Given the description of an element on the screen output the (x, y) to click on. 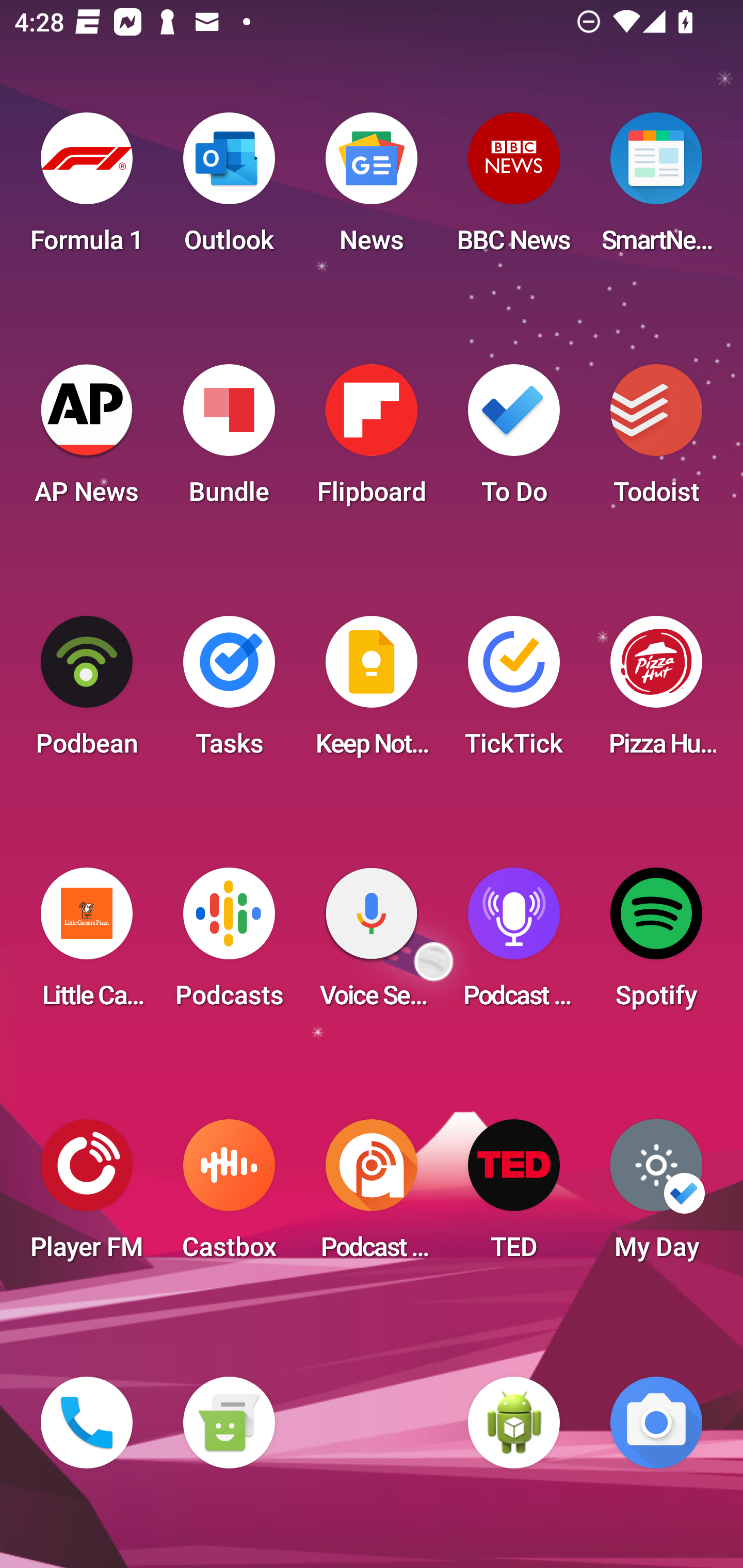
Formula 1 (86, 188)
Outlook (228, 188)
News (371, 188)
BBC News (513, 188)
SmartNews (656, 188)
AP News (86, 440)
Bundle (228, 440)
Flipboard (371, 440)
To Do (513, 440)
Todoist (656, 440)
Podbean (86, 692)
Tasks (228, 692)
Keep Notes (371, 692)
TickTick (513, 692)
Pizza Hut HK & Macau (656, 692)
Little Caesars Pizza (86, 943)
Podcasts (228, 943)
Voice Search (371, 943)
Podcast Player (513, 943)
Spotify (656, 943)
Player FM (86, 1195)
Castbox (228, 1195)
Podcast Addict (371, 1195)
TED (513, 1195)
My Day (656, 1195)
Phone (86, 1422)
Messaging (228, 1422)
WebView Browser Tester (513, 1422)
Camera (656, 1422)
